Given the description of an element on the screen output the (x, y) to click on. 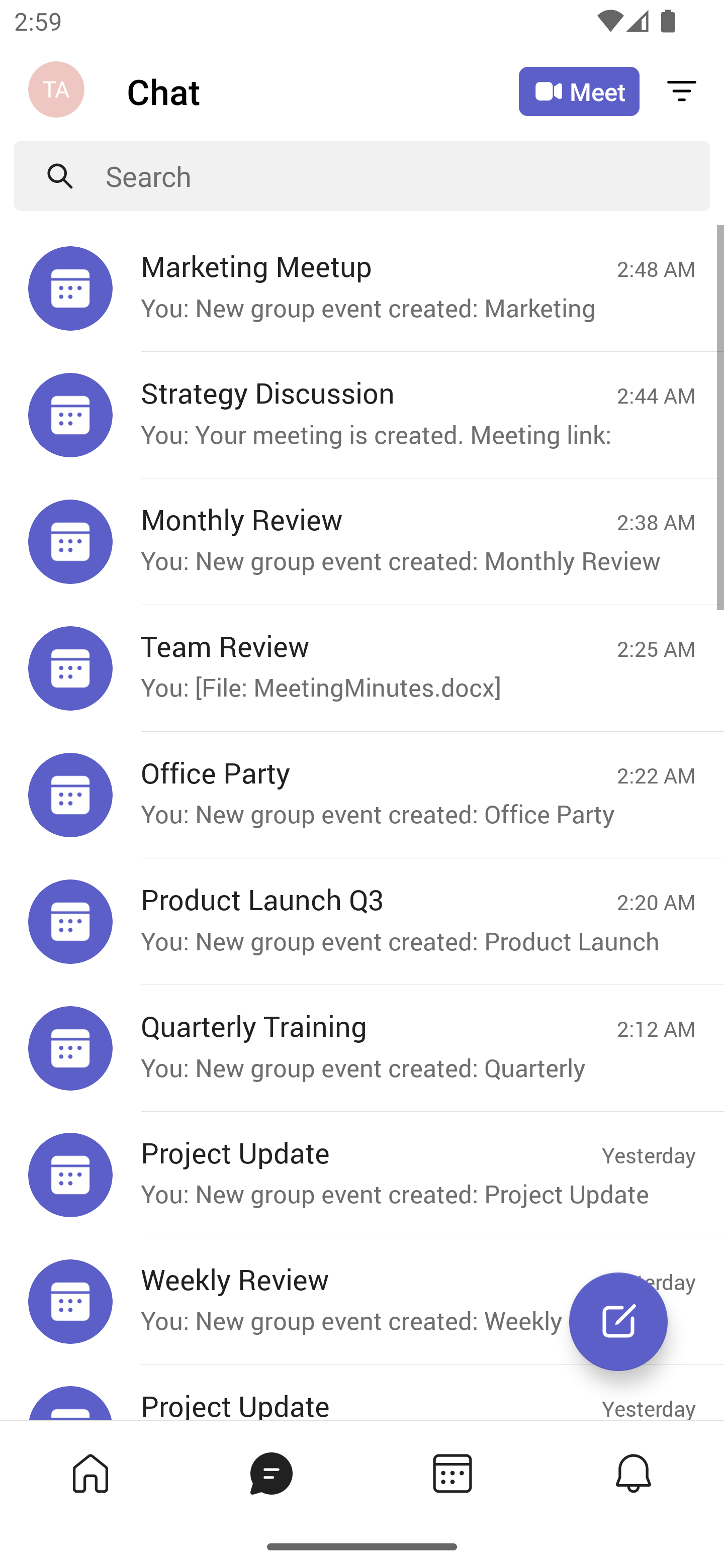
Filter chat messages (681, 90)
Navigation (58, 91)
Meet Meet now or join with an ID (579, 91)
Search (407, 176)
New chat (618, 1321)
Home tab,1 of 4, not selected (89, 1472)
Chat tab, 2 of 4 (270, 1472)
Calendar tab,3 of 4, not selected (451, 1472)
Activity tab,4 of 4, not selected (632, 1472)
